Given the description of an element on the screen output the (x, y) to click on. 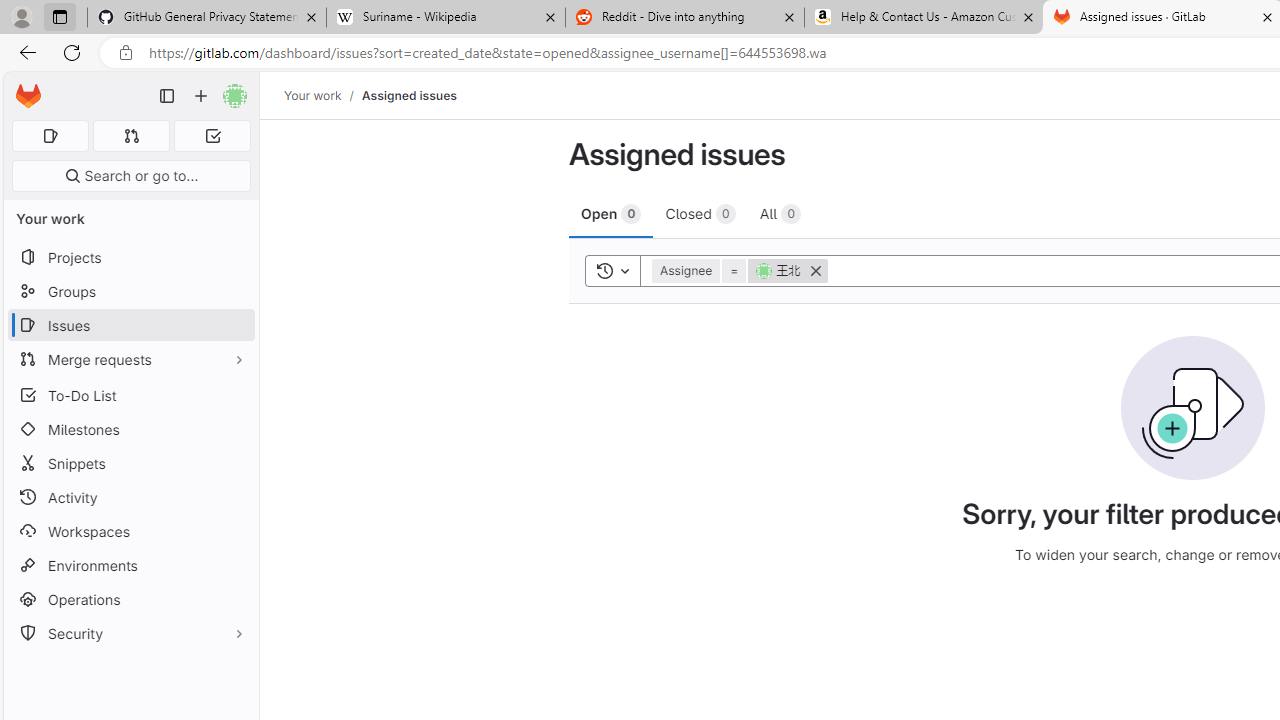
Skip to main content (23, 87)
Your work/ (323, 95)
Merge requests (130, 358)
Milestones (130, 429)
Merge requests (130, 358)
Groups (130, 291)
Create new... (201, 96)
Assigned issues (408, 95)
Reddit - Dive into anything (684, 17)
Activity (130, 497)
To-Do List (130, 394)
Toggle history (612, 270)
Environments (130, 564)
